Given the description of an element on the screen output the (x, y) to click on. 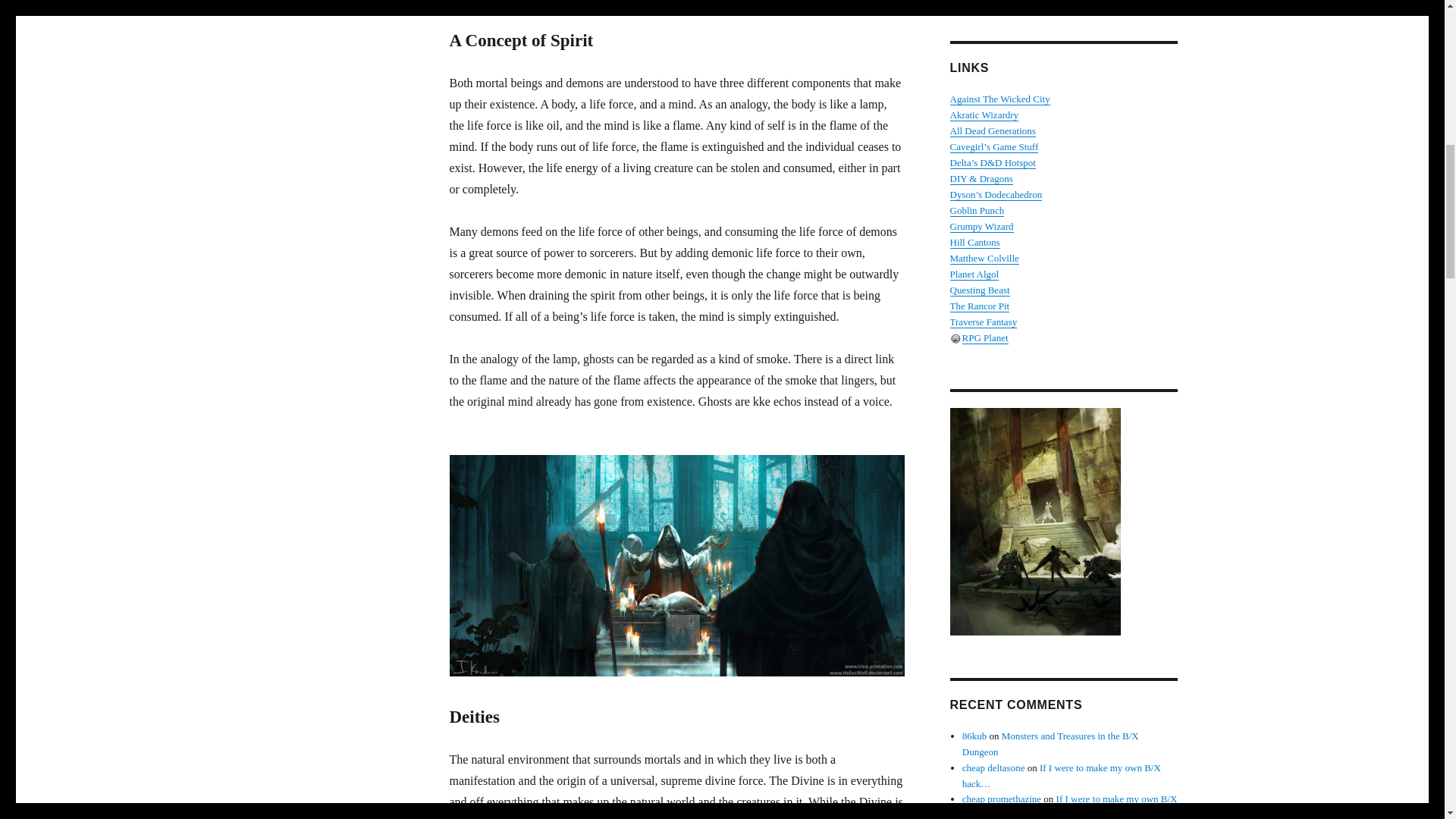
Planet Algol (973, 274)
Akratic Wizardry (983, 114)
All Dead Generations (992, 130)
Grumpy Wizard (981, 225)
Against The Wicked City (999, 98)
Matthew Colville (983, 257)
The Rancor Pit (979, 306)
RPG Planet (983, 337)
Questing Beast (979, 289)
Goblin Punch (976, 210)
86kub (974, 736)
Hill Cantons (973, 242)
Traverse Fantasy (982, 321)
